Given the description of an element on the screen output the (x, y) to click on. 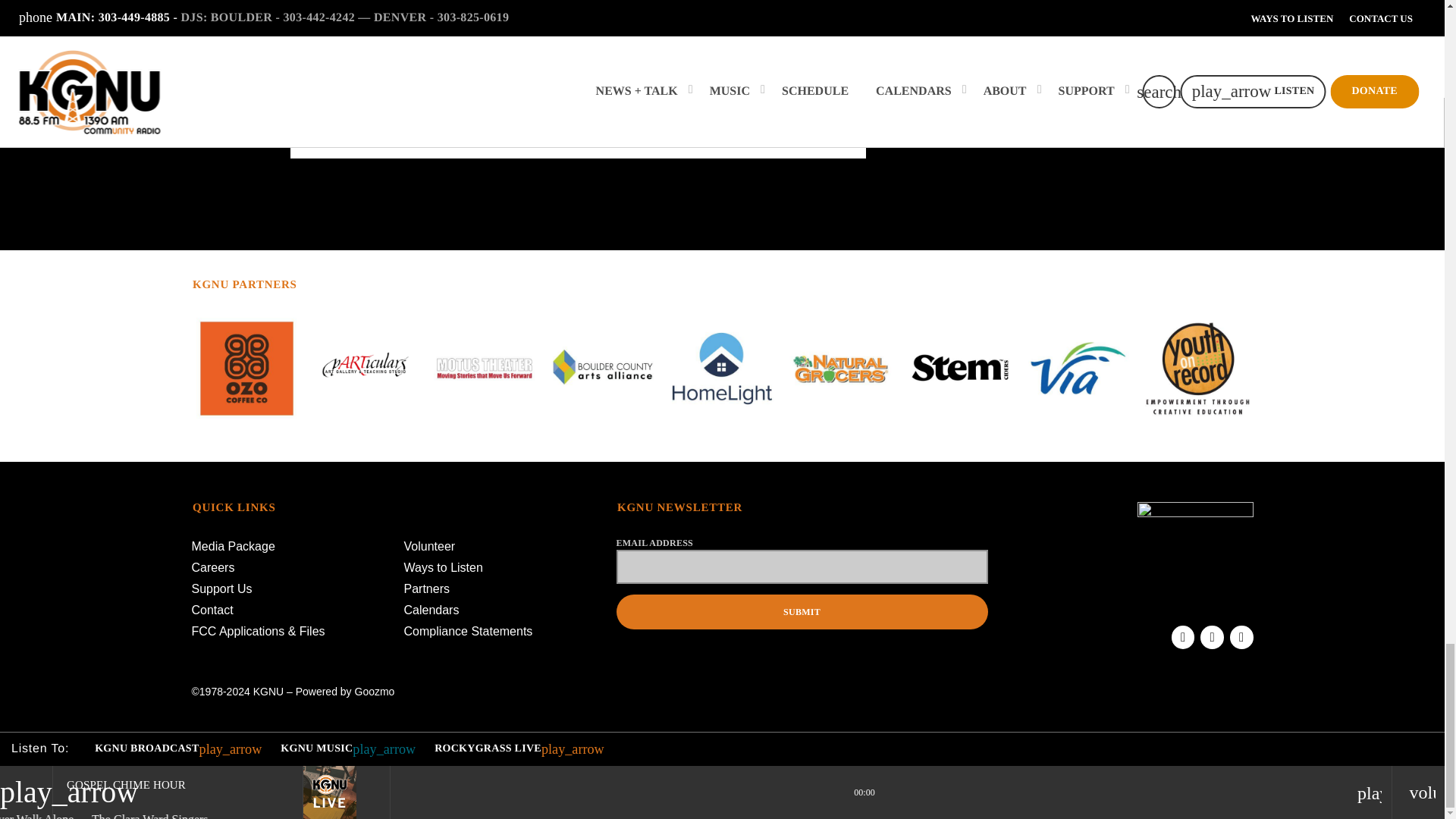
Play in new window (424, 48)
Download (513, 48)
